Given the description of an element on the screen output the (x, y) to click on. 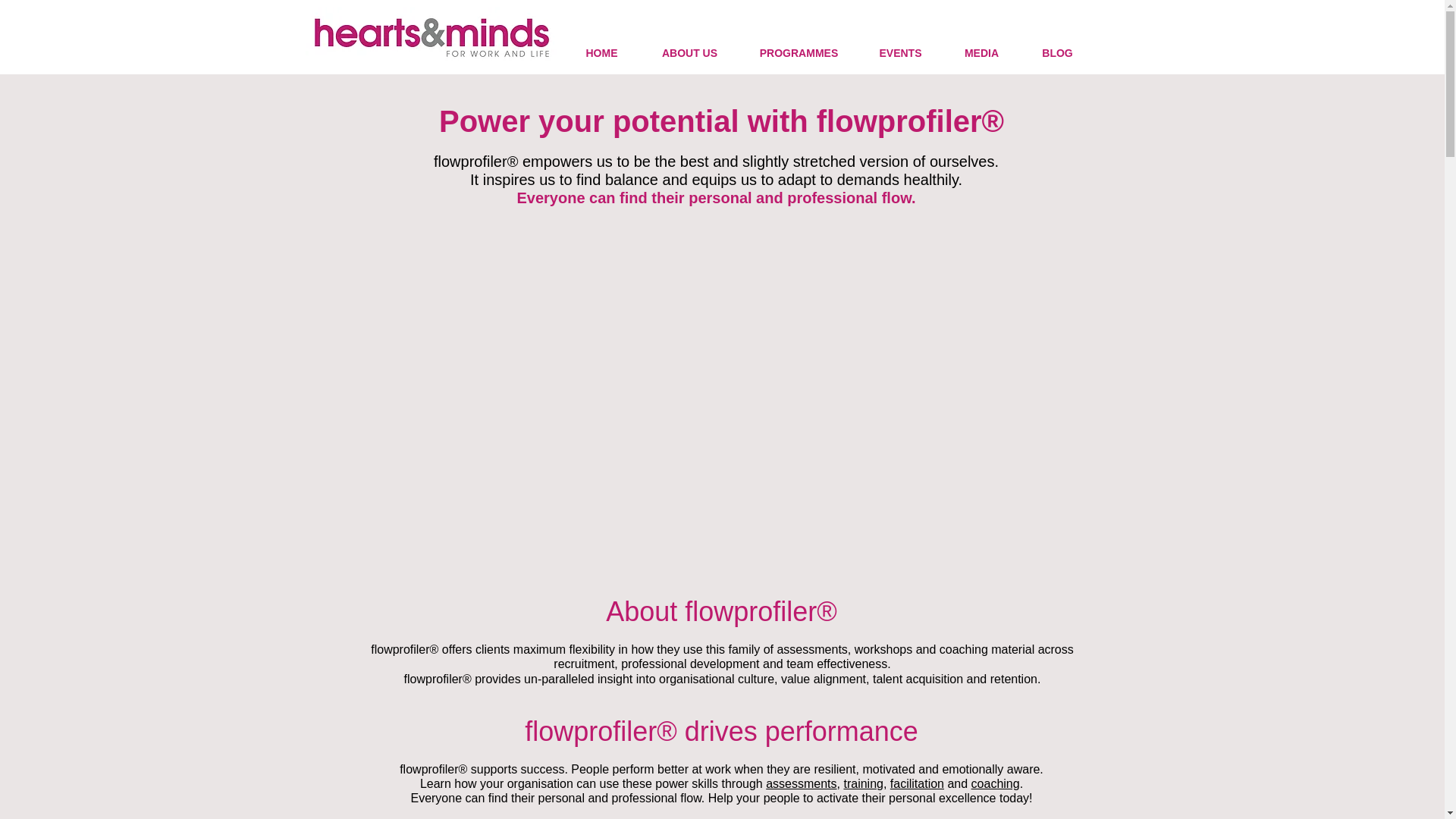
ABOUT US (689, 53)
assessments (800, 783)
HOME (601, 53)
BLOG (1056, 53)
EVENTS (900, 53)
training (862, 783)
PROGRAMMES (798, 53)
MEDIA (981, 53)
facilitation (916, 783)
coaching (995, 783)
